Given the description of an element on the screen output the (x, y) to click on. 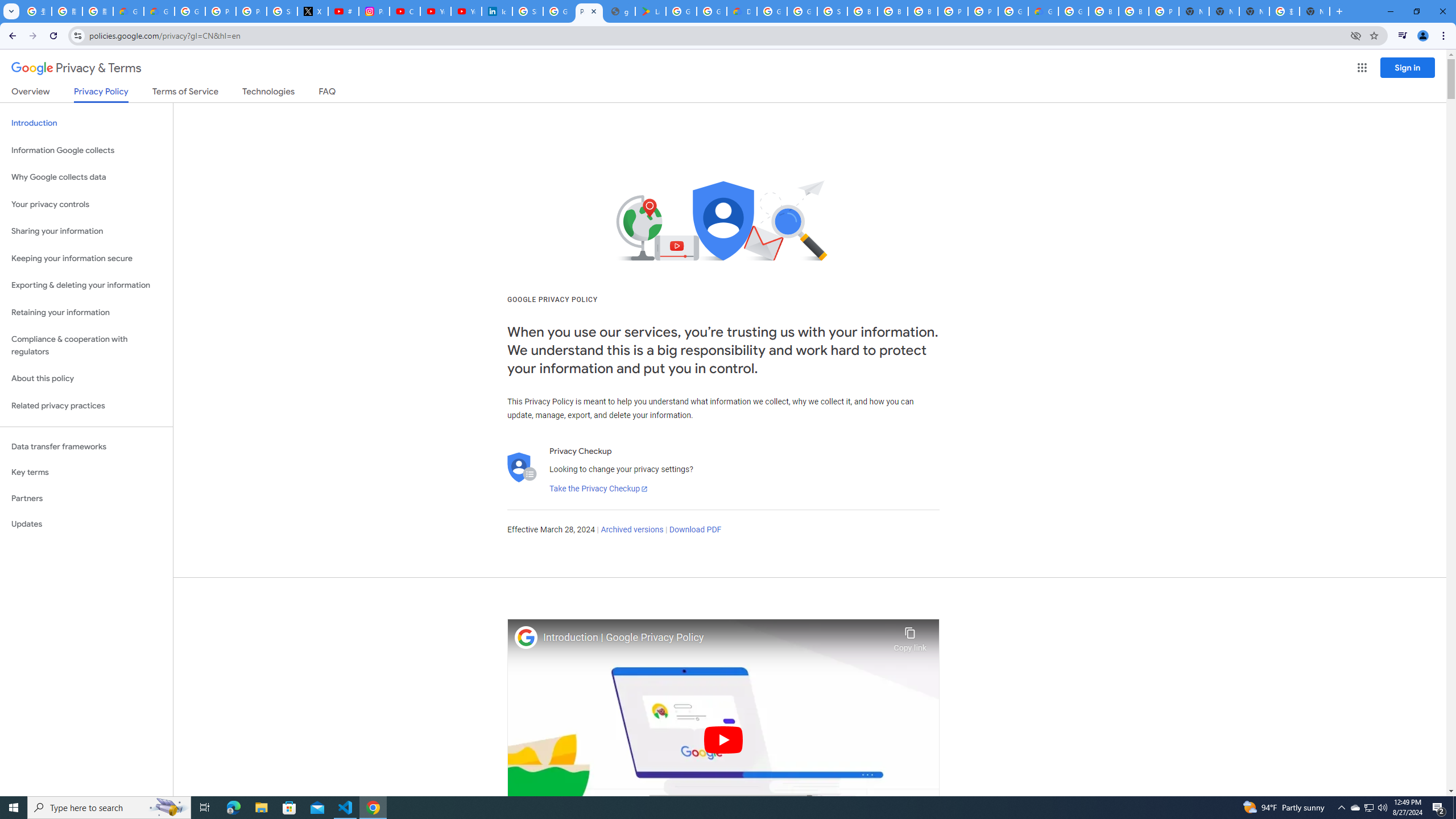
Sign in - Google Accounts (282, 11)
Introduction | Google Privacy Policy (715, 637)
Browse Chrome as a guest - Computer - Google Chrome Help (1103, 11)
Google Cloud Estimate Summary (1042, 11)
Exporting & deleting your information (86, 284)
Sign in - Google Accounts (832, 11)
Copy link (909, 636)
Sign in - Google Accounts (527, 11)
